Given the description of an element on the screen output the (x, y) to click on. 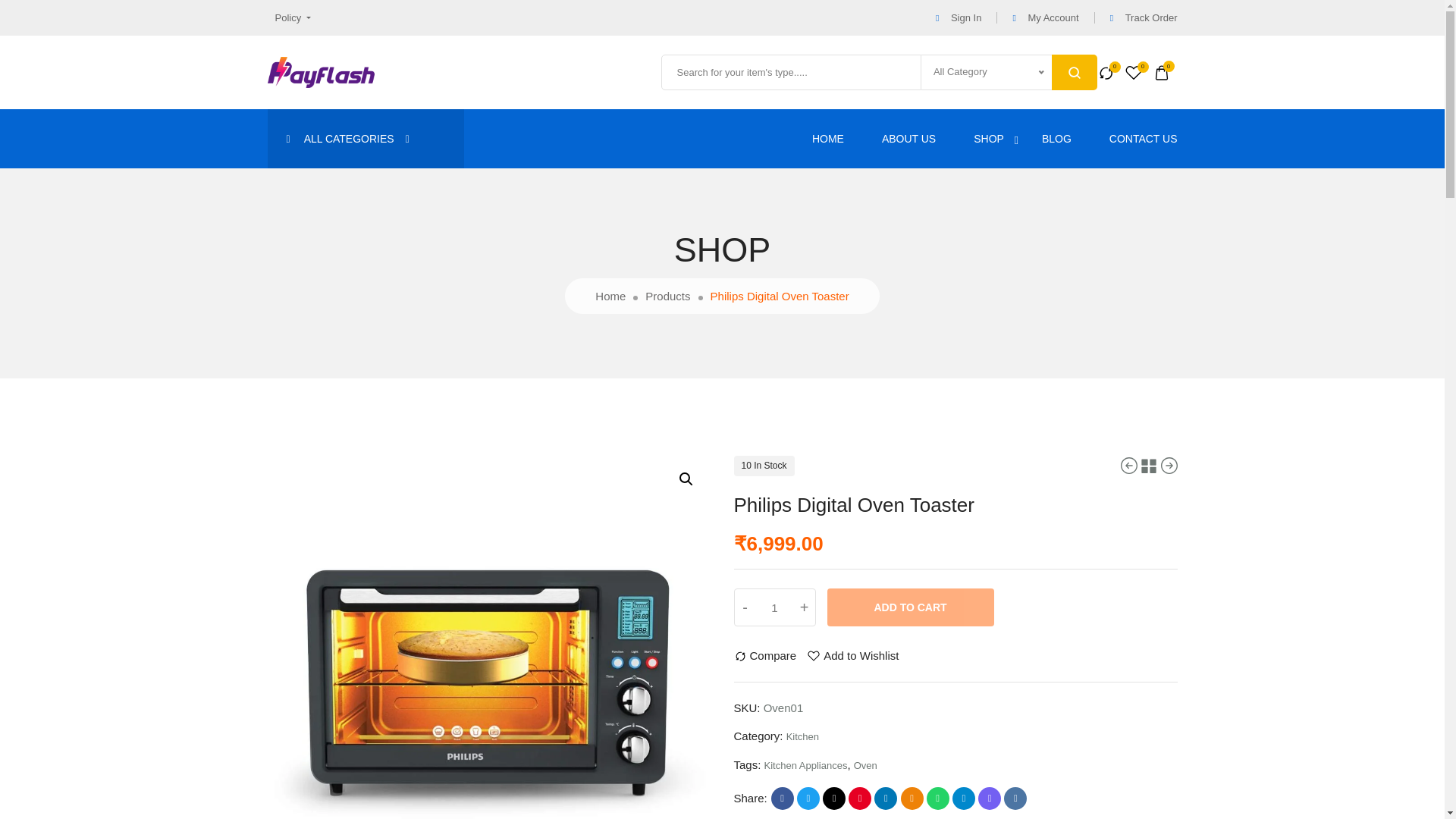
ALL CATEGORIES (364, 138)
Qty (774, 607)
My Account (1044, 18)
Track Order (1143, 18)
0 (1164, 71)
1 (774, 607)
Policy (288, 17)
SHOP (989, 138)
ABOUT US (909, 138)
HOME (828, 138)
Sign In (958, 18)
